Given the description of an element on the screen output the (x, y) to click on. 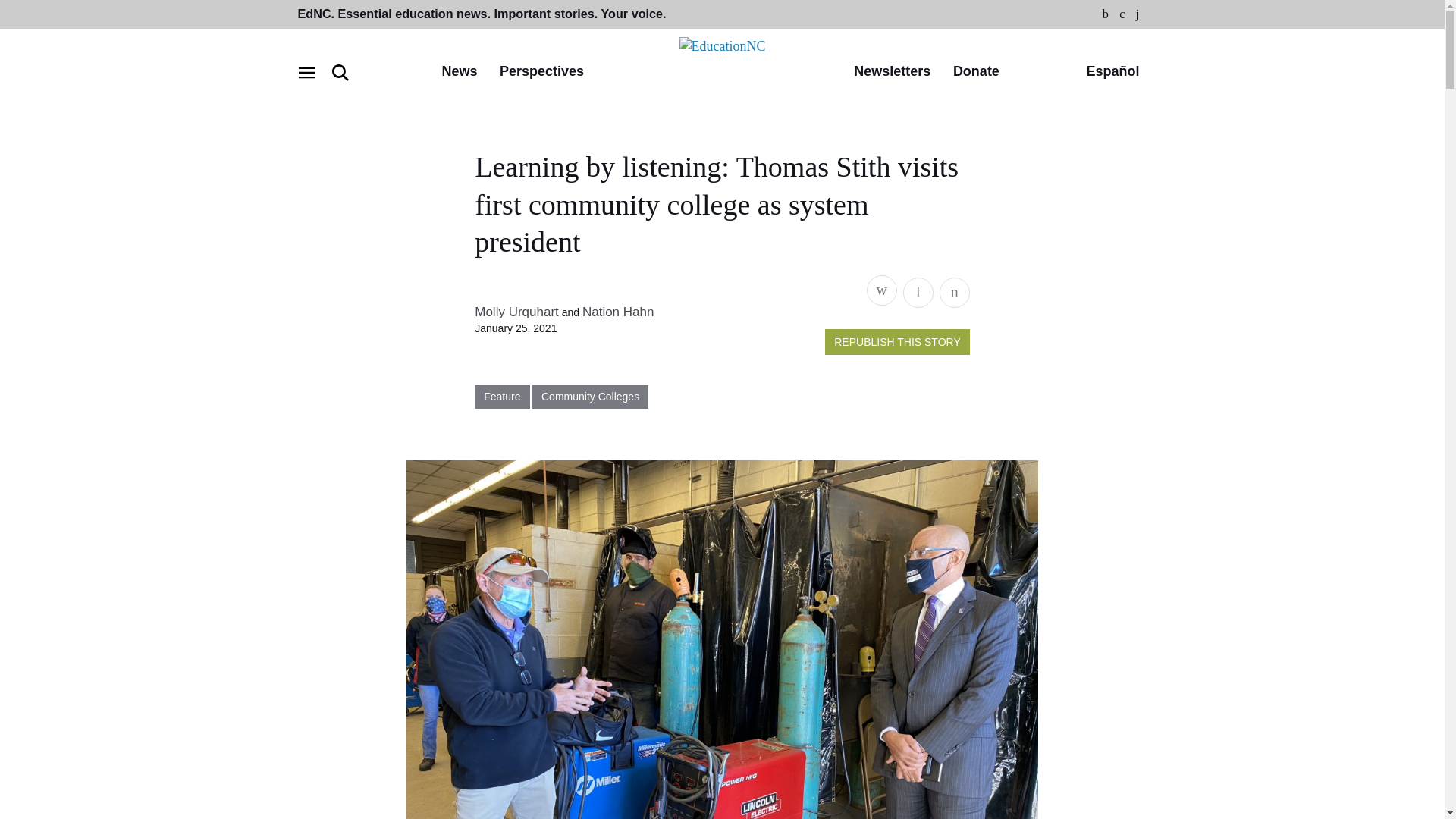
Open navigation (306, 72)
News (459, 71)
Posts by Molly Urquhart (516, 311)
Share this page (881, 290)
Molly Urquhart (516, 311)
Nation Hahn (617, 311)
Donate (975, 71)
Perspectives (541, 71)
Newsletters (891, 71)
Posts by Nation Hahn (617, 311)
